Given the description of an element on the screen output the (x, y) to click on. 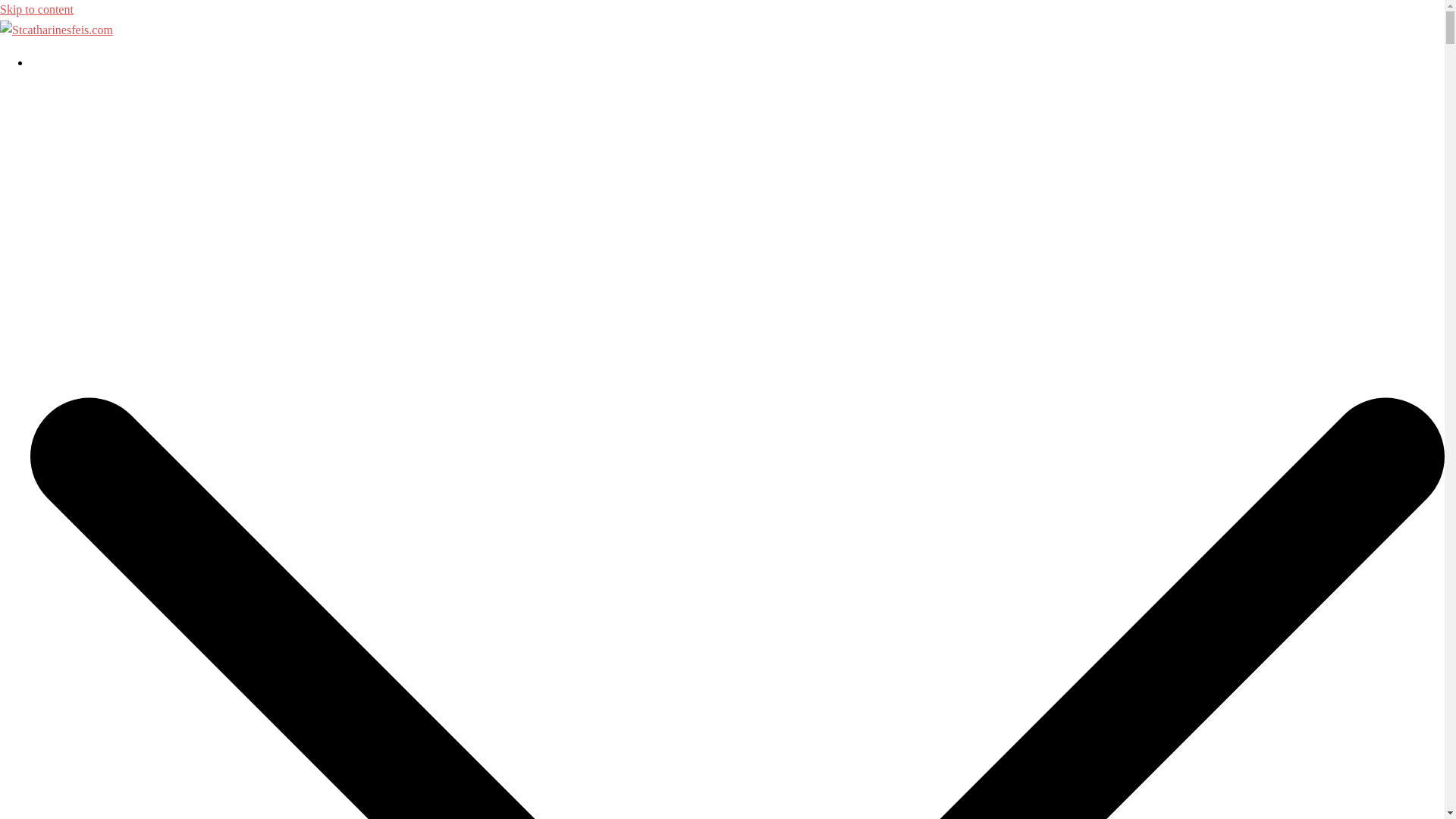
Basic (44, 62)
Skip to content (37, 9)
Stcatharinesfeis.com (56, 29)
